Given the description of an element on the screen output the (x, y) to click on. 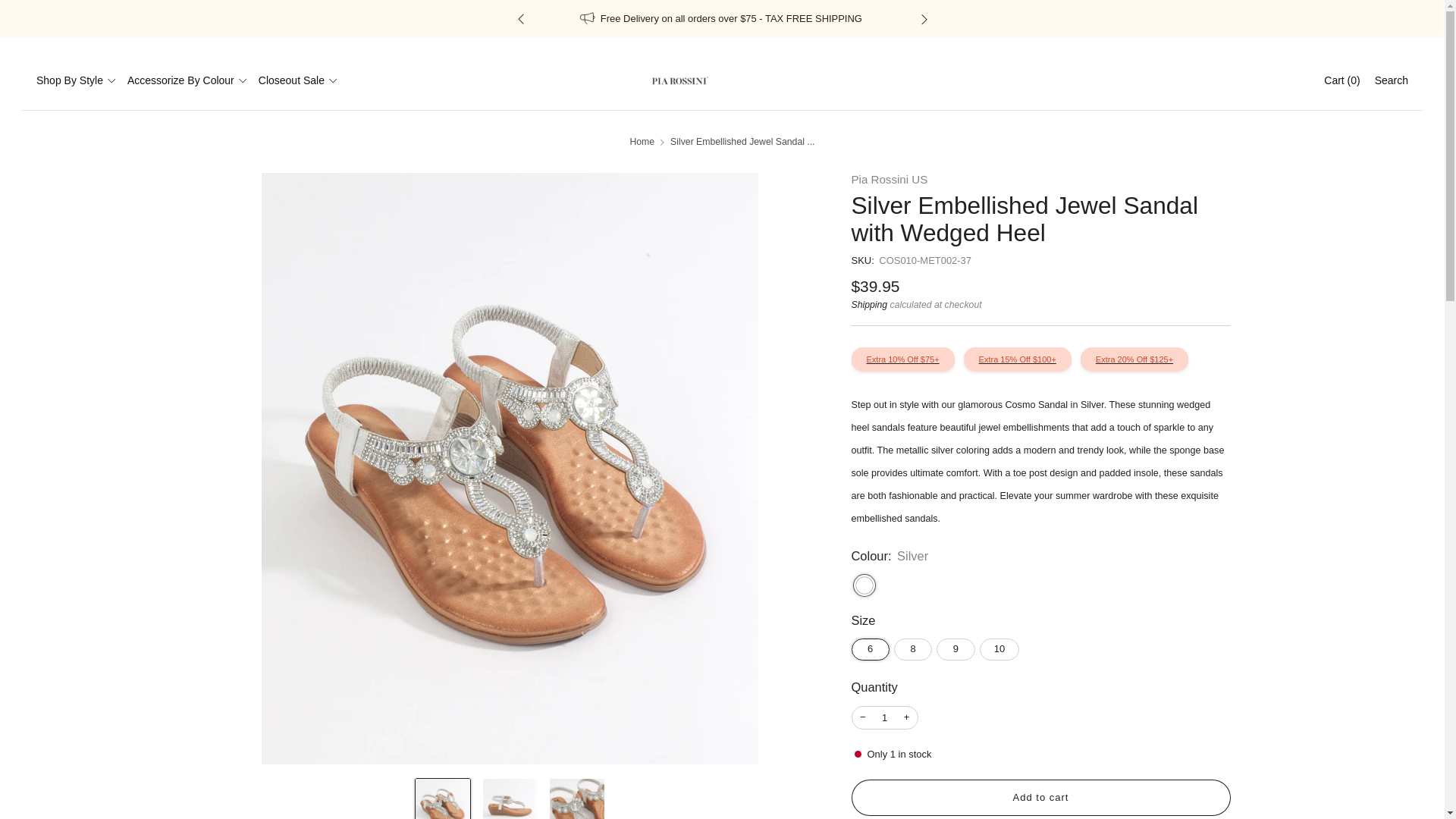
Shop By Style (76, 79)
10 (1001, 645)
Pia Rossini US (888, 178)
1 (884, 717)
6 (871, 645)
Accessorize By Colour (187, 79)
8 (914, 645)
9 (957, 645)
Home (640, 141)
